Given the description of an element on the screen output the (x, y) to click on. 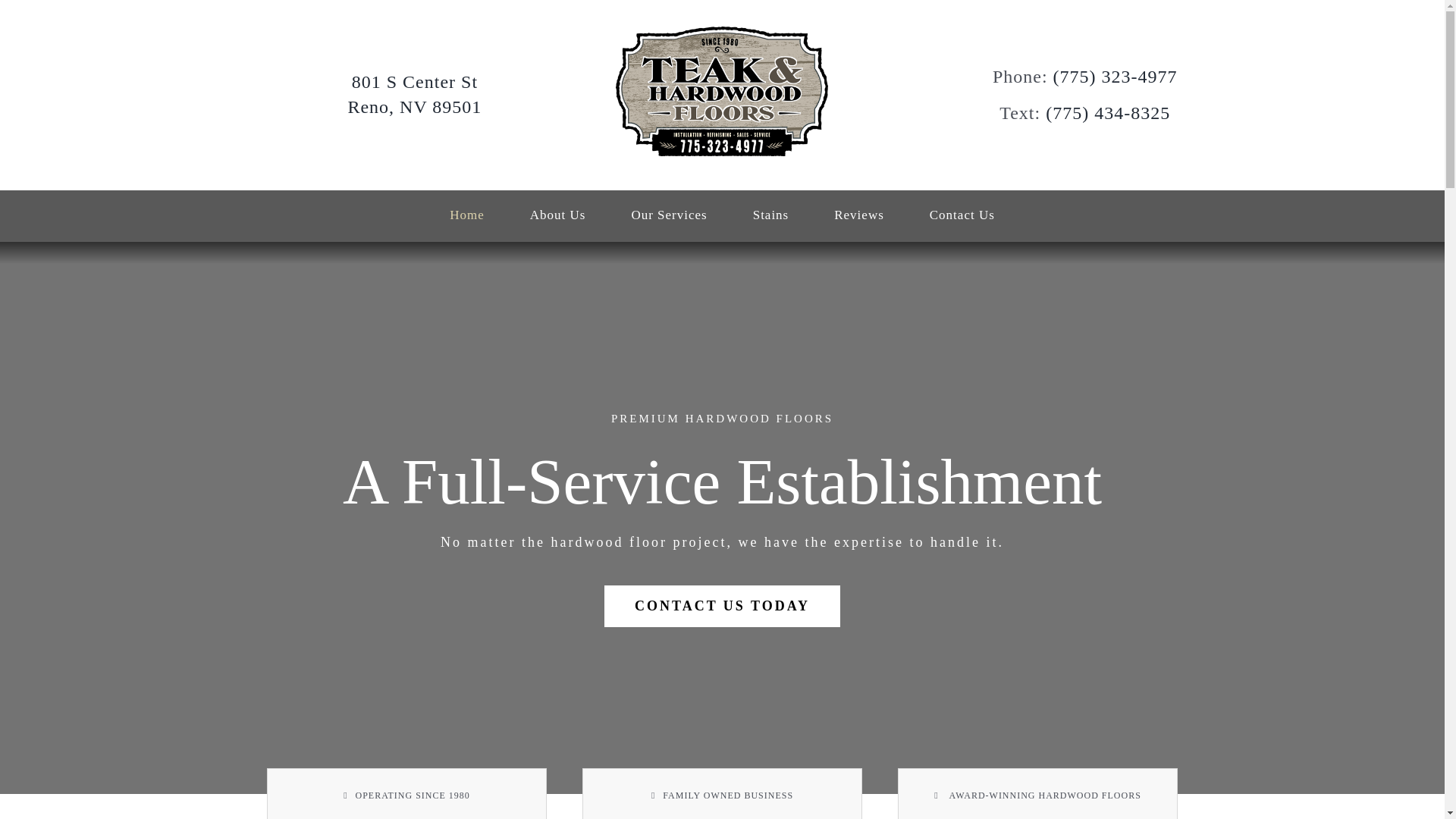
Our Services (668, 215)
Reviews (858, 215)
CONTACT US TODAY (722, 606)
About Us (414, 94)
Contact Us (557, 215)
